Given the description of an element on the screen output the (x, y) to click on. 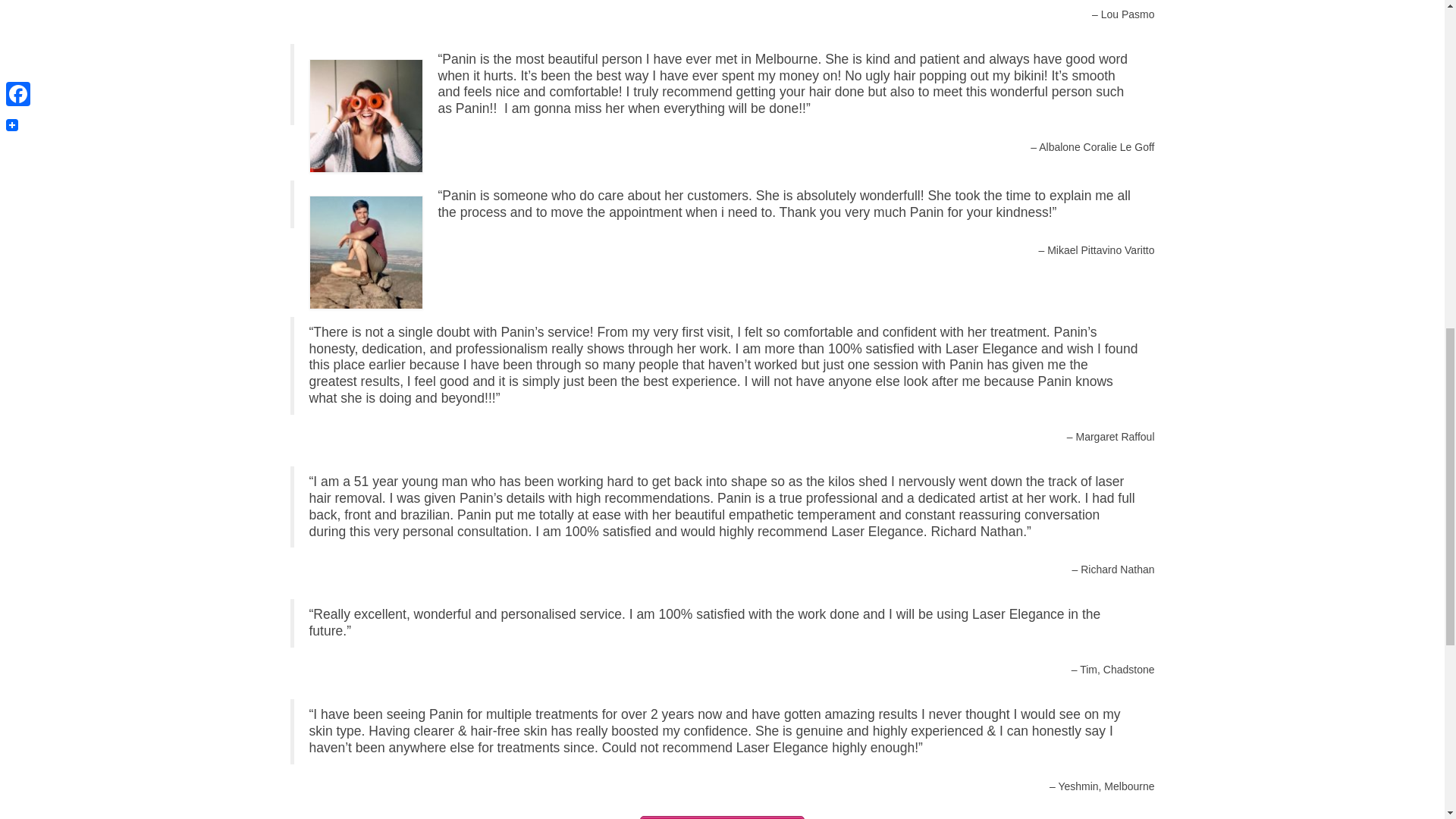
Contact Laser Elegance Now! (722, 817)
